Given the description of an element on the screen output the (x, y) to click on. 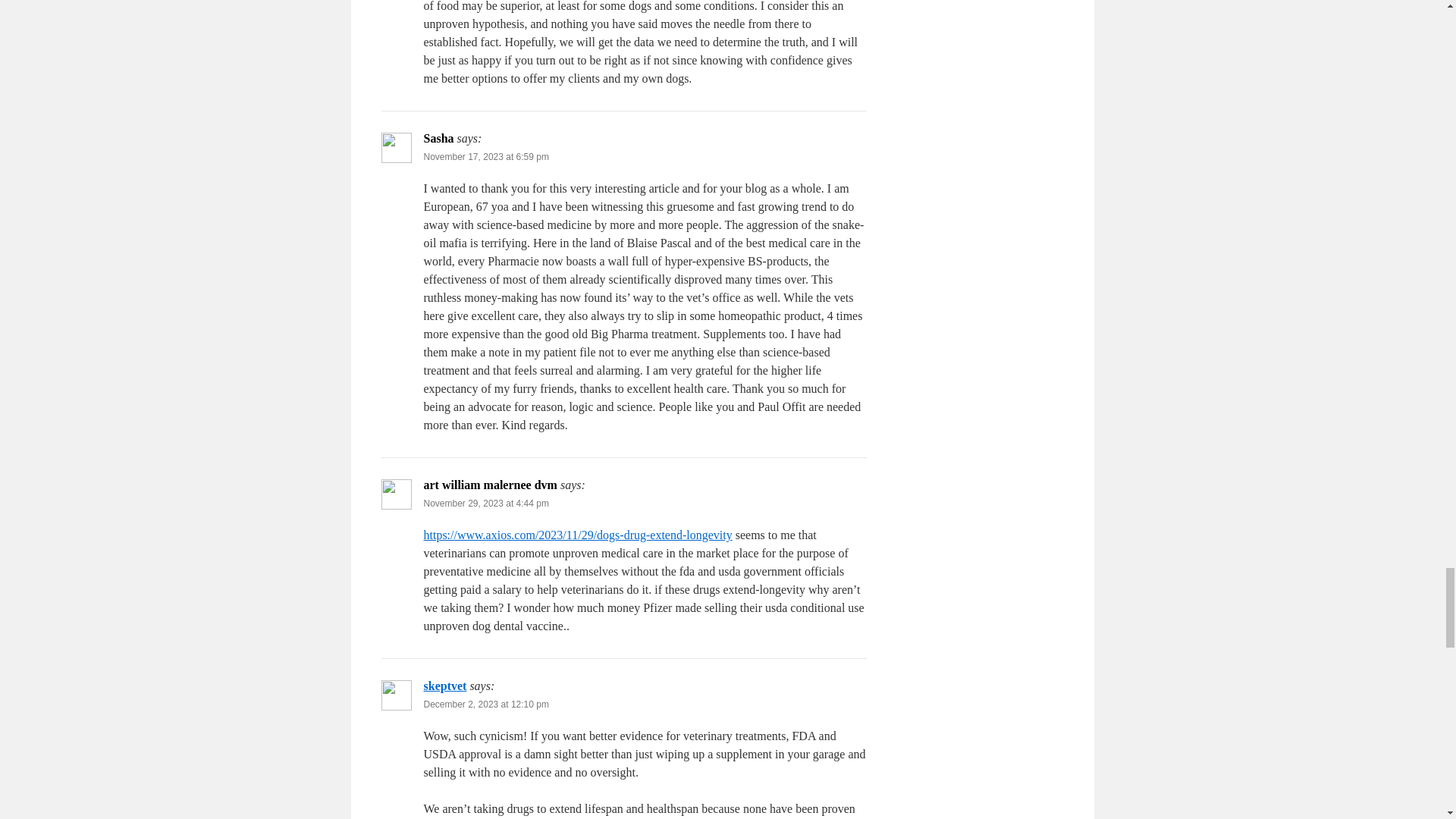
November 17, 2023 at 6:59 pm (485, 156)
